Given the description of an element on the screen output the (x, y) to click on. 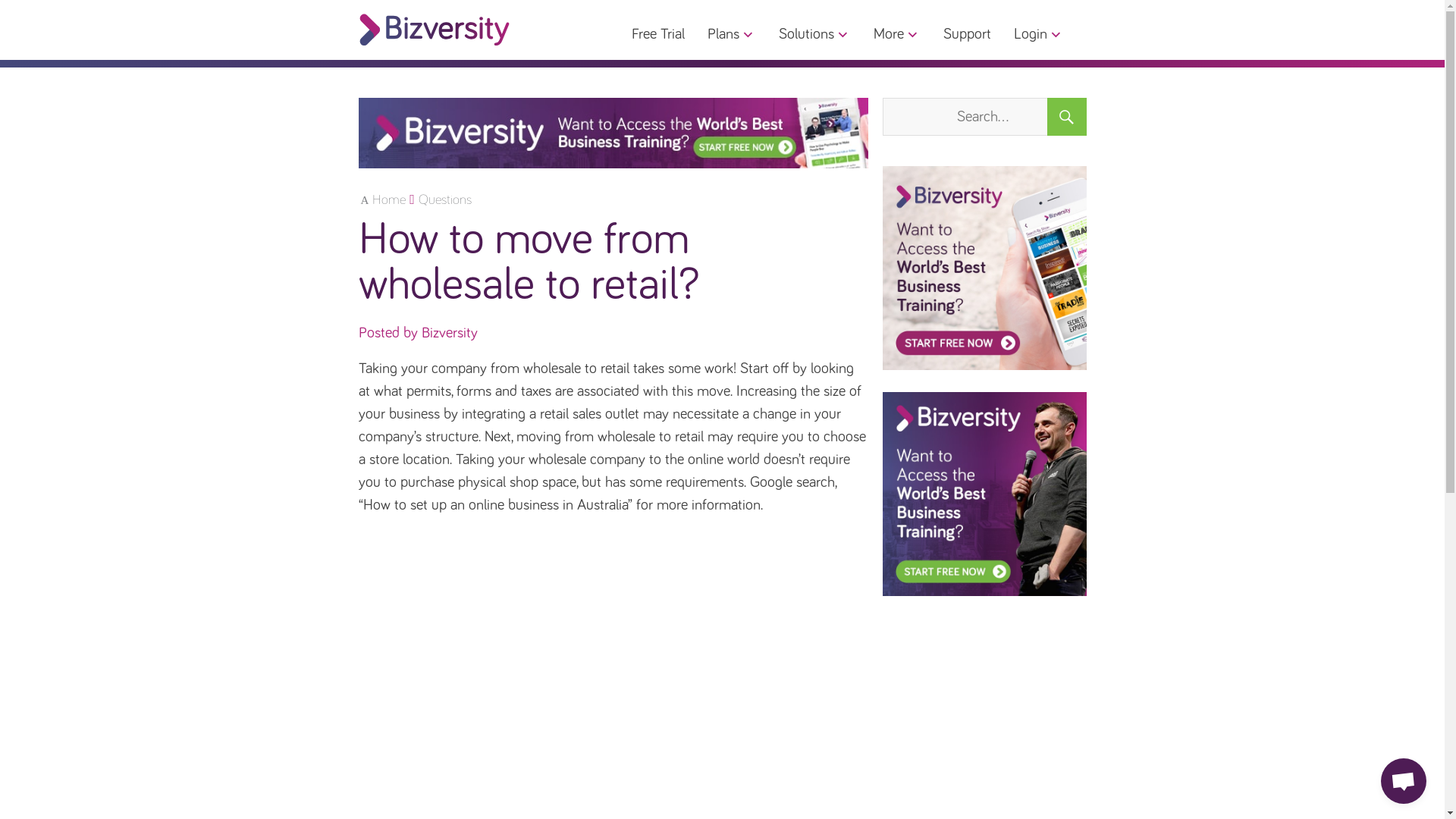
Bizversity (984, 494)
More (896, 33)
Solutions (813, 33)
Support (967, 33)
Plans (730, 33)
Questions (445, 200)
Home (383, 200)
Login (1037, 33)
Return to homepage (433, 29)
Search (1066, 116)
Free Trial (657, 33)
